Given the description of an element on the screen output the (x, y) to click on. 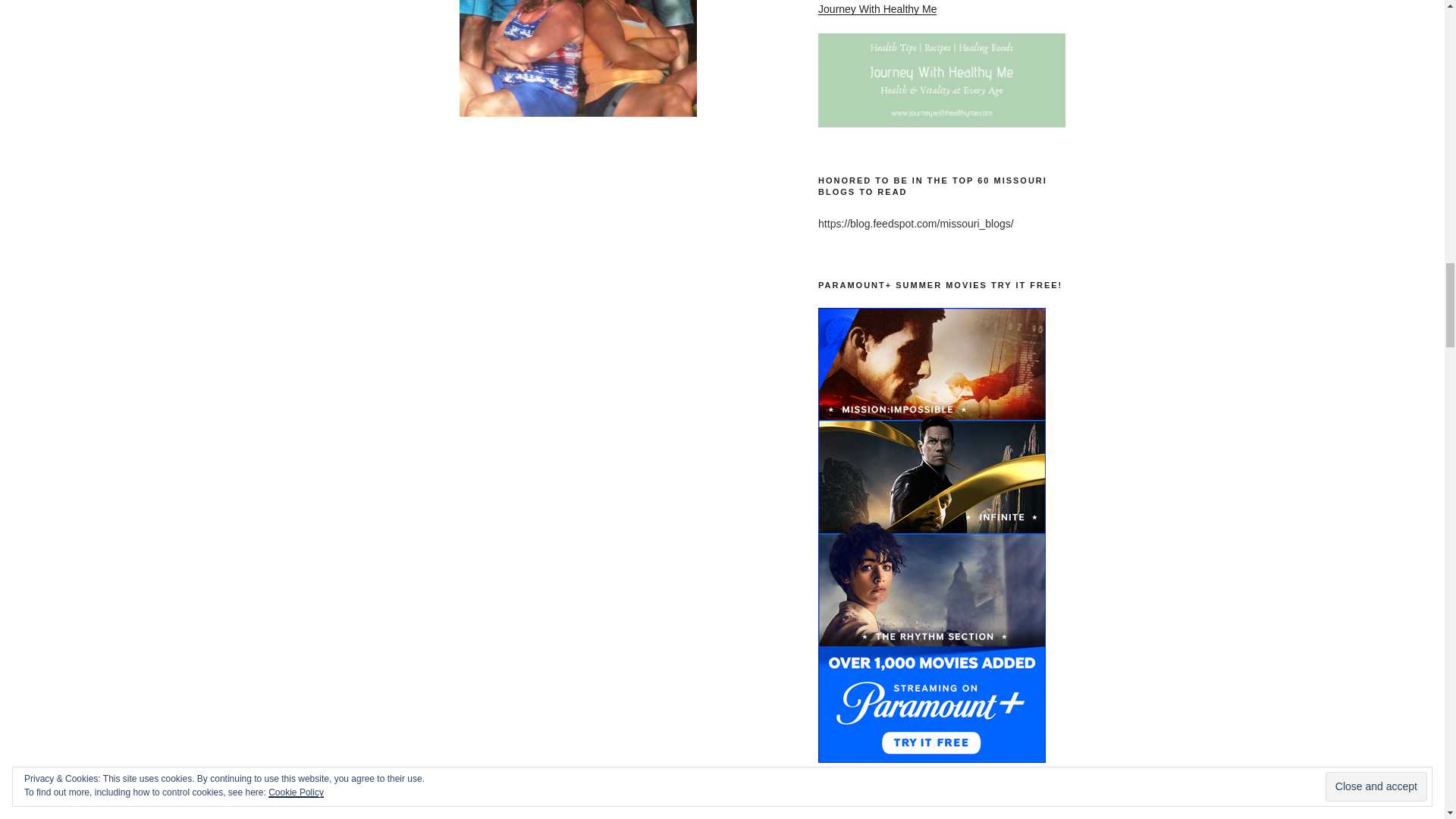
Journey With Healthy Me (877, 9)
